Given the description of an element on the screen output the (x, y) to click on. 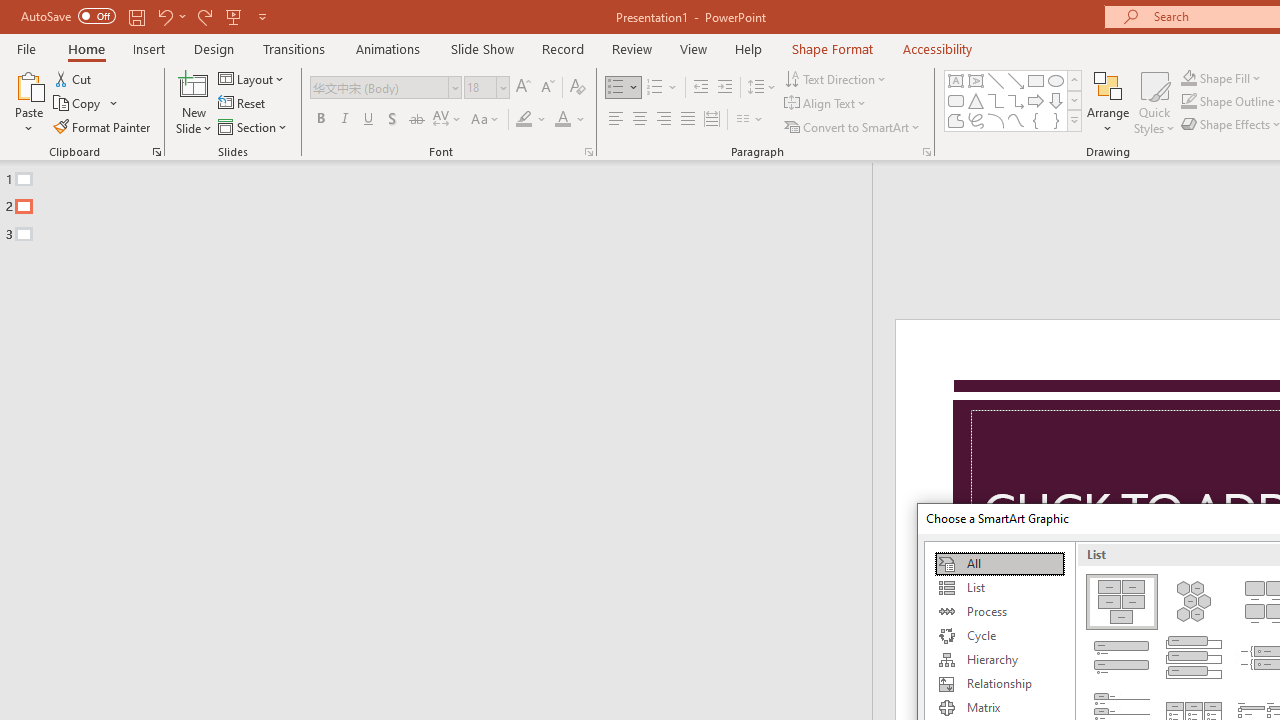
Alternating Hexagons (1194, 601)
Cycle (999, 636)
